Given the description of an element on the screen output the (x, y) to click on. 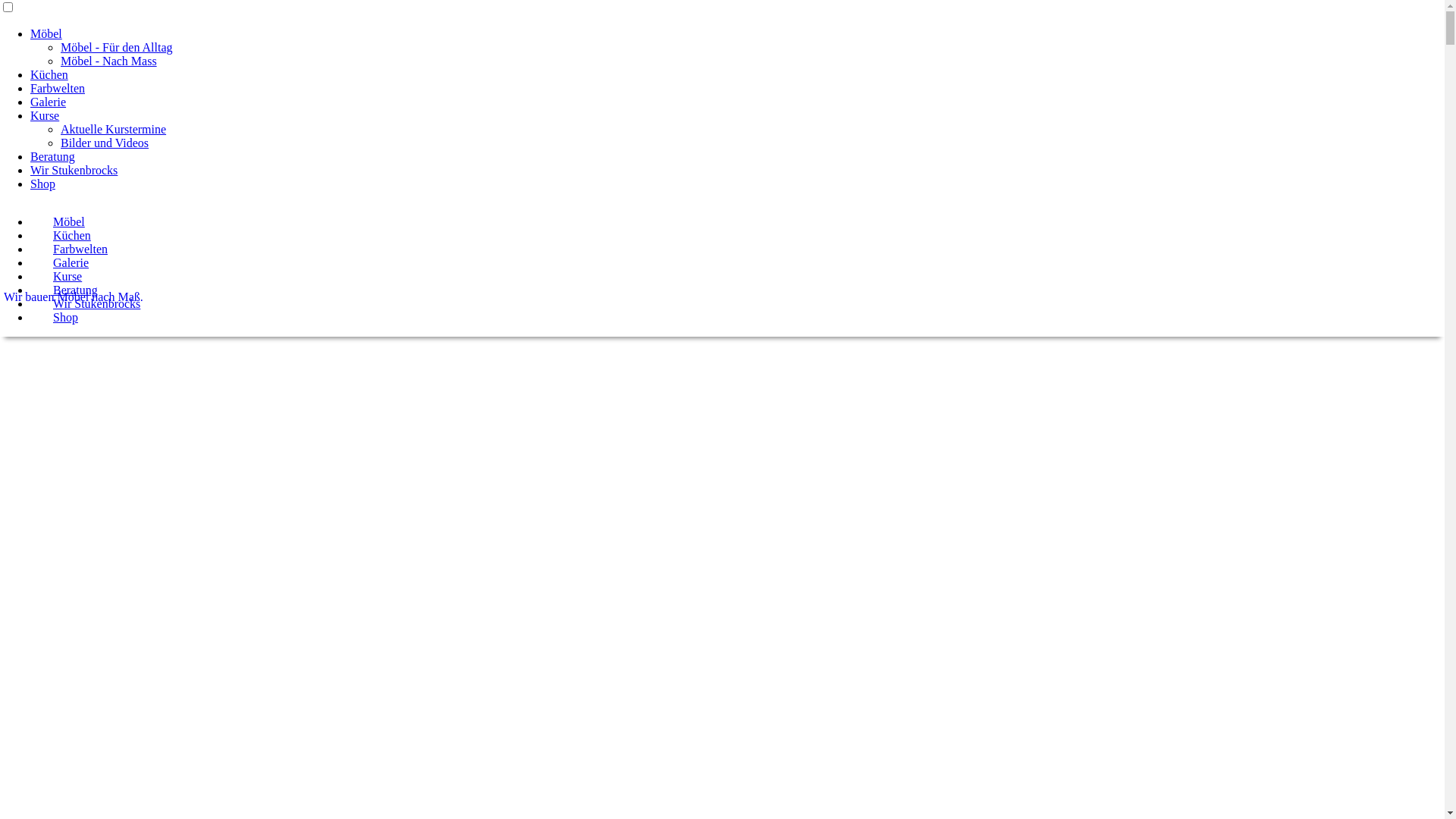
Bilder und Videos Element type: text (104, 142)
Aktuelle Kurstermine Element type: text (113, 128)
Beratung Element type: text (75, 289)
Wir Stukenbrocks Element type: text (96, 303)
Galerie Element type: text (70, 262)
Beratung Element type: text (52, 156)
Wir Stukenbrocks Element type: text (73, 169)
Farbwelten Element type: text (57, 87)
Kurse Element type: text (44, 115)
Farbwelten Element type: text (80, 248)
Galerie Element type: text (47, 101)
Shop Element type: text (65, 317)
Kurse Element type: text (67, 276)
Shop Element type: text (42, 183)
